Given the description of an element on the screen output the (x, y) to click on. 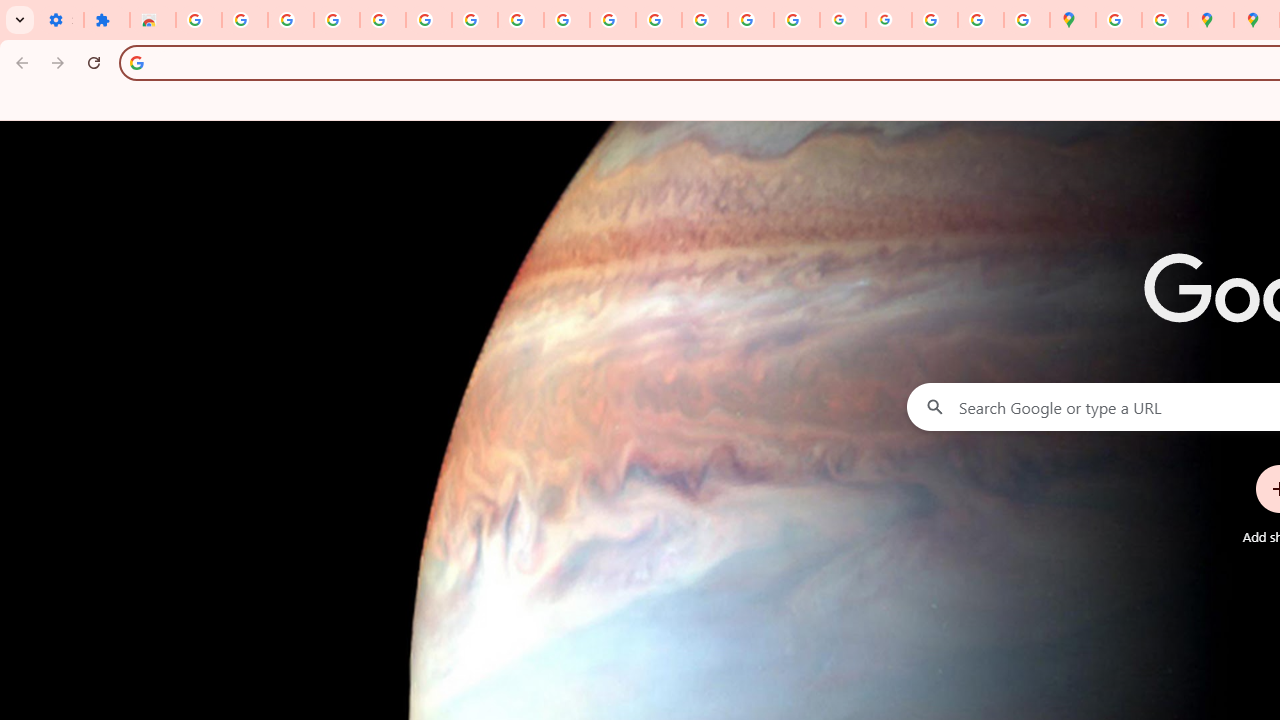
Safety in Our Products - Google Safety Center (1164, 20)
Reviews: Helix Fruit Jump Arcade Game (153, 20)
https://scholar.google.com/ (659, 20)
Sign in - Google Accounts (198, 20)
Google Account (520, 20)
Google Maps (1072, 20)
